Given the description of an element on the screen output the (x, y) to click on. 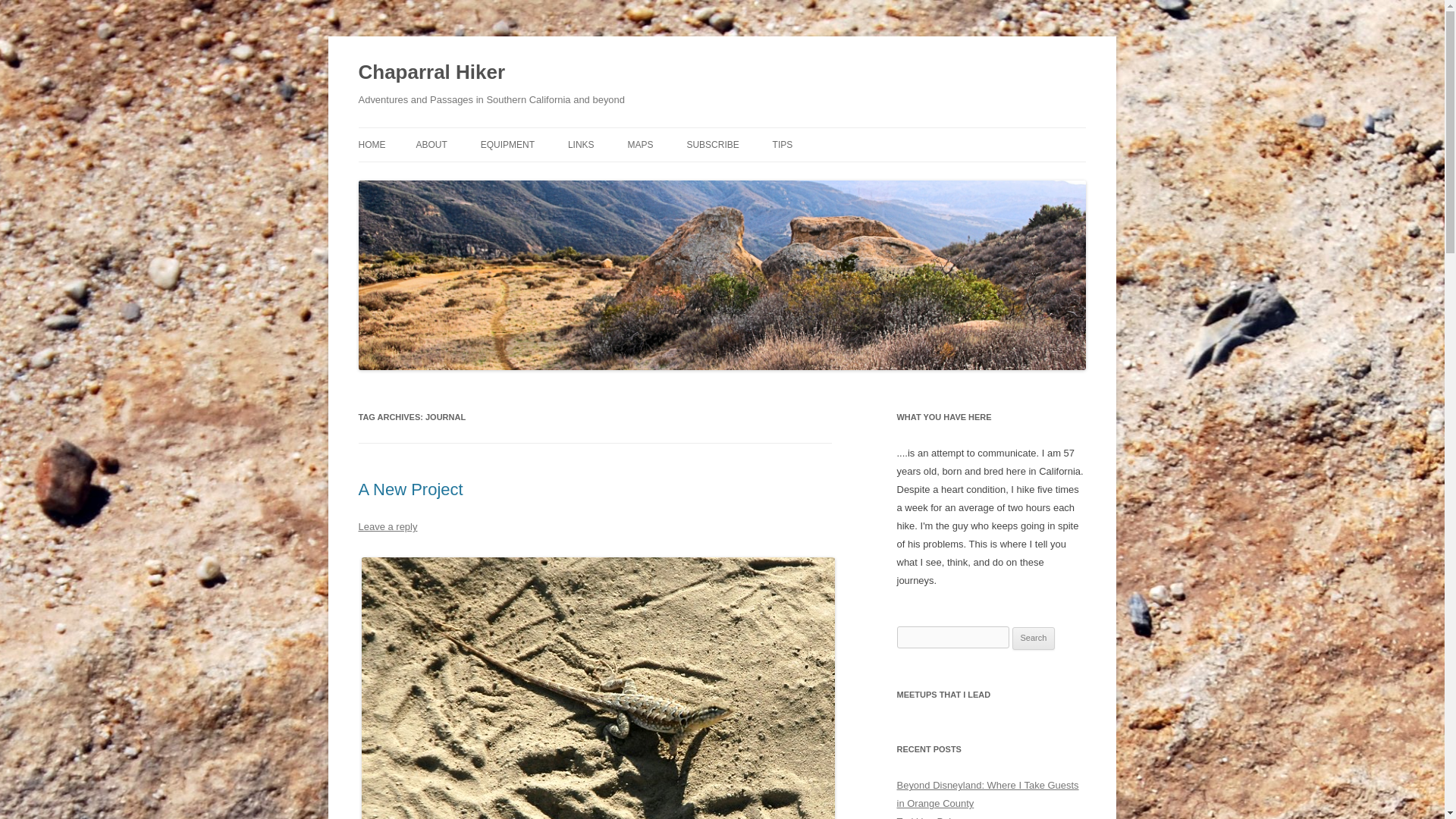
ORANGE COUNTY BACK COUNTRY (702, 185)
SUBSCRIBE (711, 144)
ABOUT (430, 144)
ON HIKING UPHILL (848, 176)
A BUCKET LIST OF HIKES (490, 176)
Chaparral Hiker (431, 72)
Search (1033, 638)
Beyond Disneyland: Where I Take Guests in Orange County (987, 794)
Search (1033, 638)
A New Project (410, 488)
Leave a reply (387, 526)
Trekking Poles (928, 817)
EQUIPMENT (507, 144)
